Given the description of an element on the screen output the (x, y) to click on. 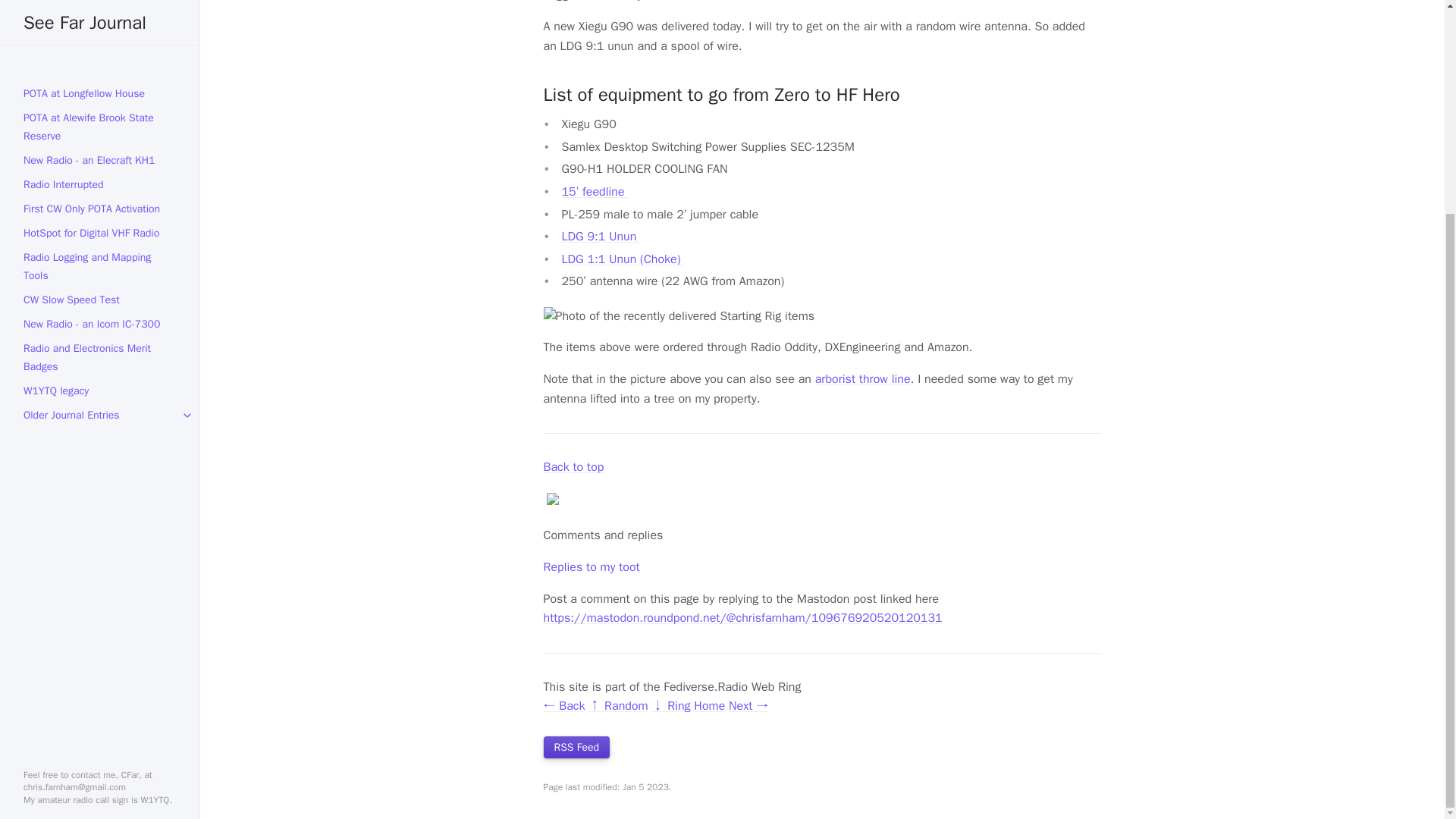
RSS Feed (576, 747)
Back to top (573, 467)
W1YTQ legacy (99, 111)
CW Slow Speed Test (99, 20)
arborist throw line (863, 378)
Replies to my toot (591, 566)
Radio Logging and Mapping Tools (99, 4)
Older Journal Entries (99, 135)
Radio and Electronics Merit Badges (99, 77)
New Radio - an Icom IC-7300 (99, 44)
LDG 9:1 Unun (600, 236)
Recently delivered items (678, 316)
